Given the description of an element on the screen output the (x, y) to click on. 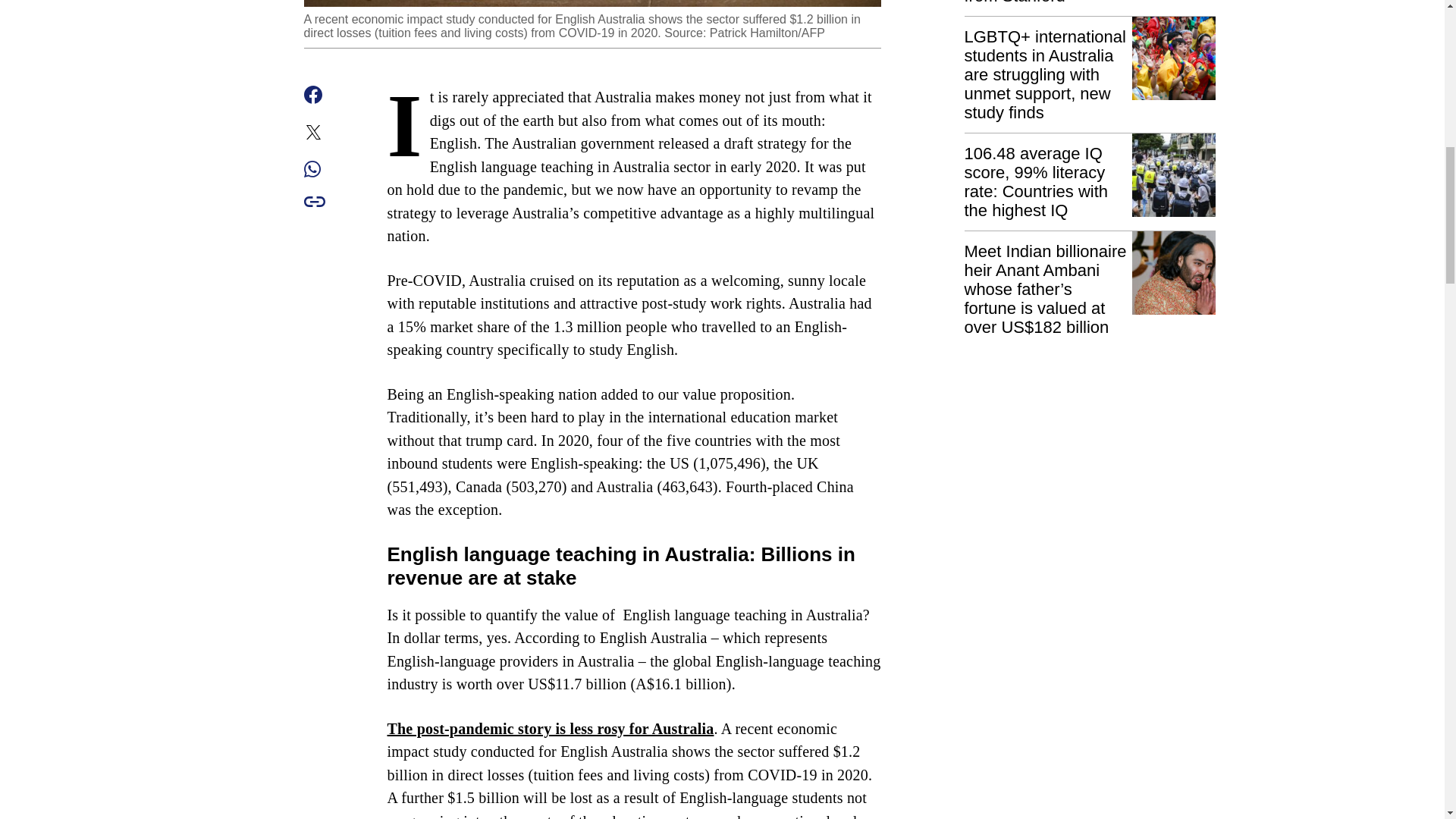
The post-pandemic story is less rosy for Australia (550, 728)
